Given the description of an element on the screen output the (x, y) to click on. 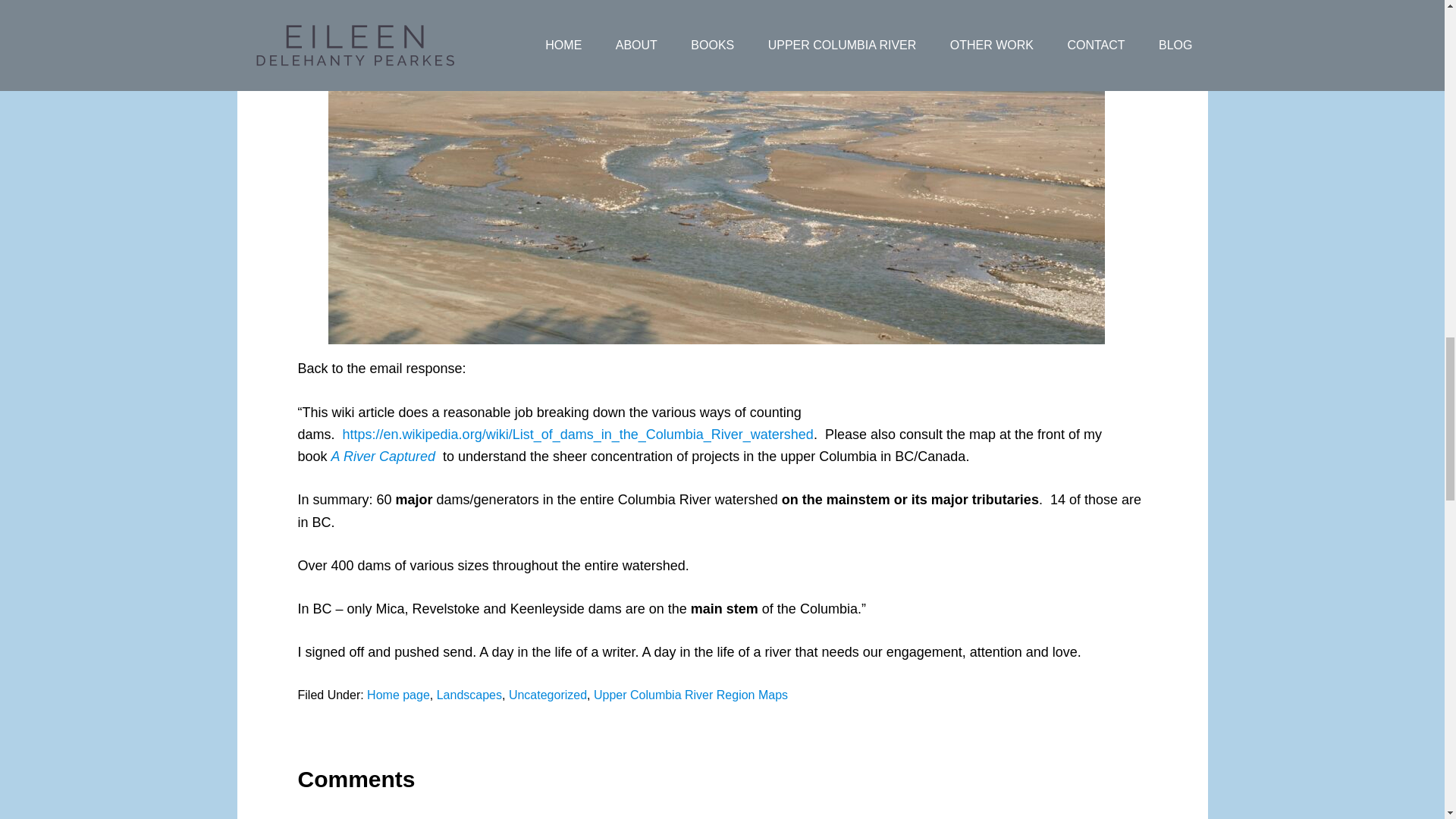
Landscapes (469, 694)
A River Captured  (385, 456)
Home page (397, 694)
Uncategorized (547, 694)
Upper Columbia River Region Maps (690, 694)
